Given the description of an element on the screen output the (x, y) to click on. 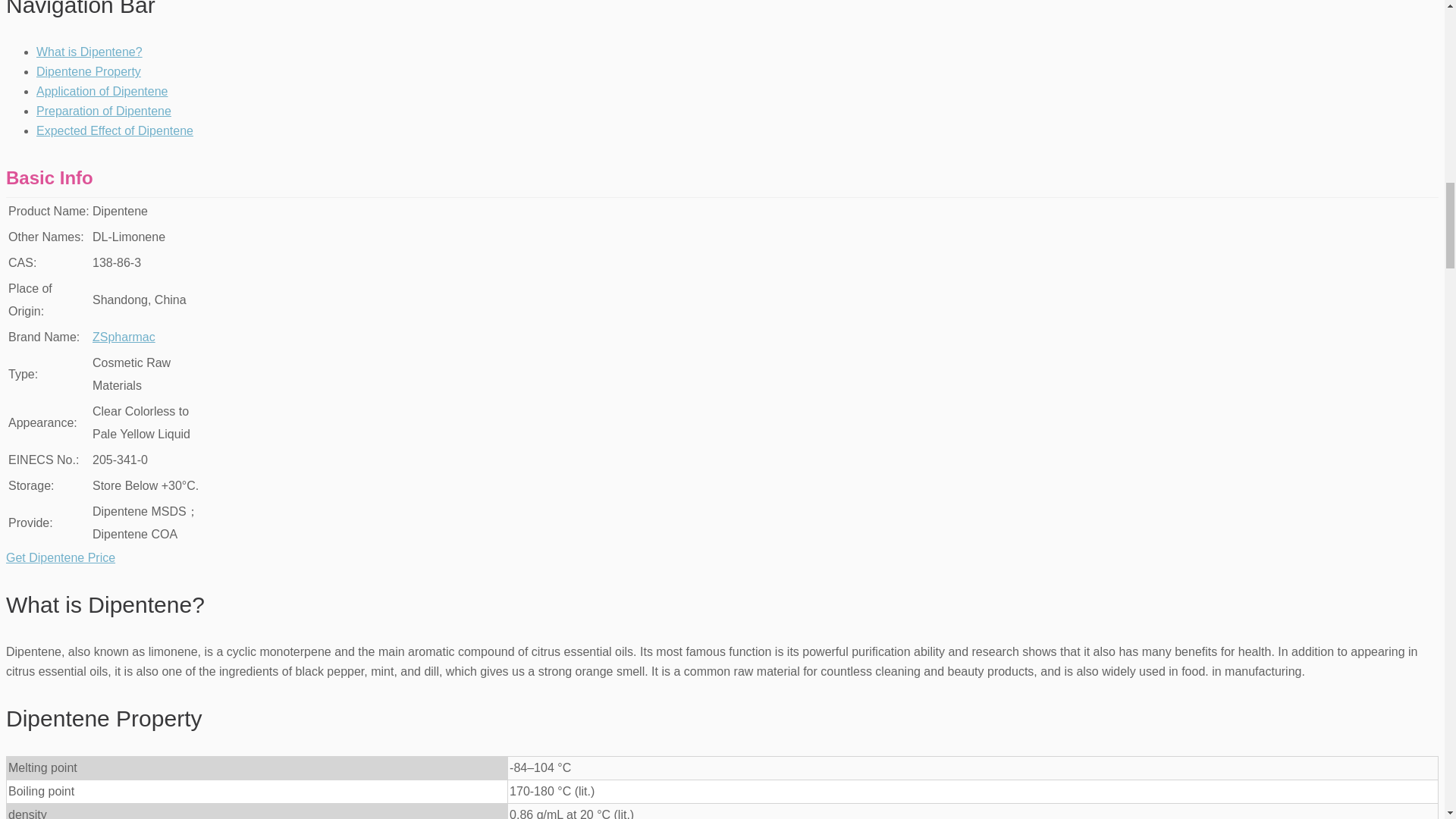
ZSpharmac (124, 336)
Preparation of Dipentene (103, 110)
Get Dipentene Price (60, 557)
Application of Dipentene (101, 91)
Dipentene Property (88, 71)
What is Dipentene? (89, 51)
Expected Effect of Dipentene (114, 130)
